Given the description of an element on the screen output the (x, y) to click on. 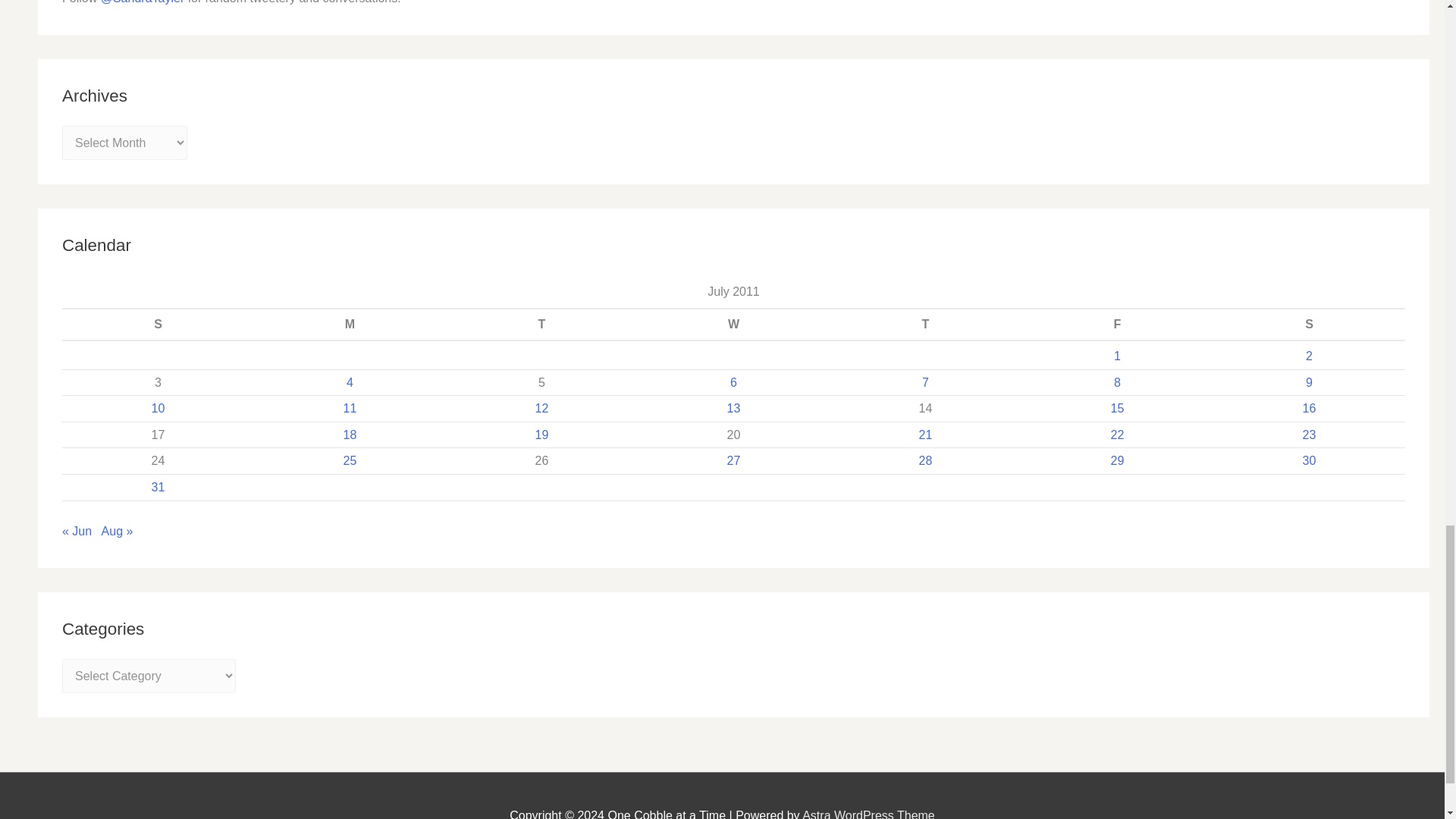
Sunday (157, 324)
15 (1117, 408)
13 (733, 408)
11 (349, 408)
22 (1117, 434)
Monday (349, 324)
Friday (1117, 324)
18 (349, 434)
12 (541, 408)
19 (541, 434)
Wednesday (733, 324)
10 (158, 408)
21 (925, 434)
23 (1309, 434)
7 (924, 382)
